Given the description of an element on the screen output the (x, y) to click on. 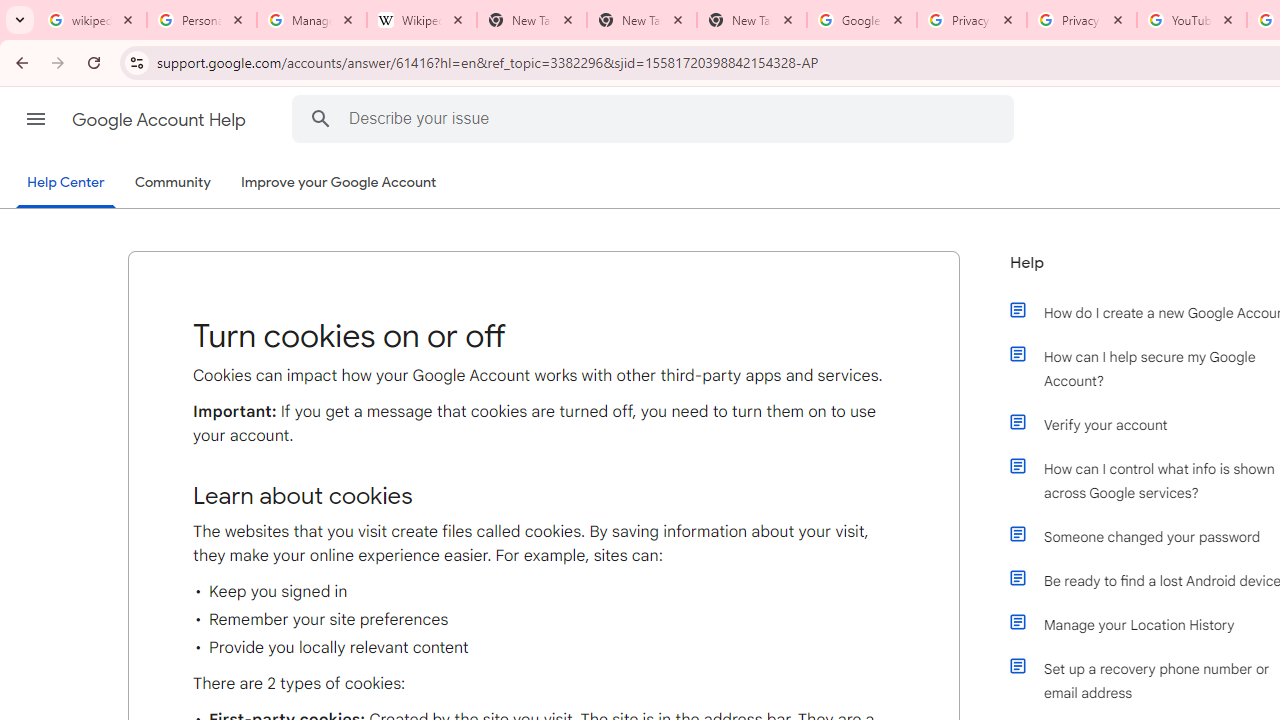
Wikipedia:Edit requests - Wikipedia (422, 20)
YouTube (1191, 20)
Main menu (35, 119)
Google Drive: Sign-in (861, 20)
Describe your issue (655, 118)
Search Help Center (320, 118)
New Tab (752, 20)
New Tab (642, 20)
Google Account Help (160, 119)
